Given the description of an element on the screen output the (x, y) to click on. 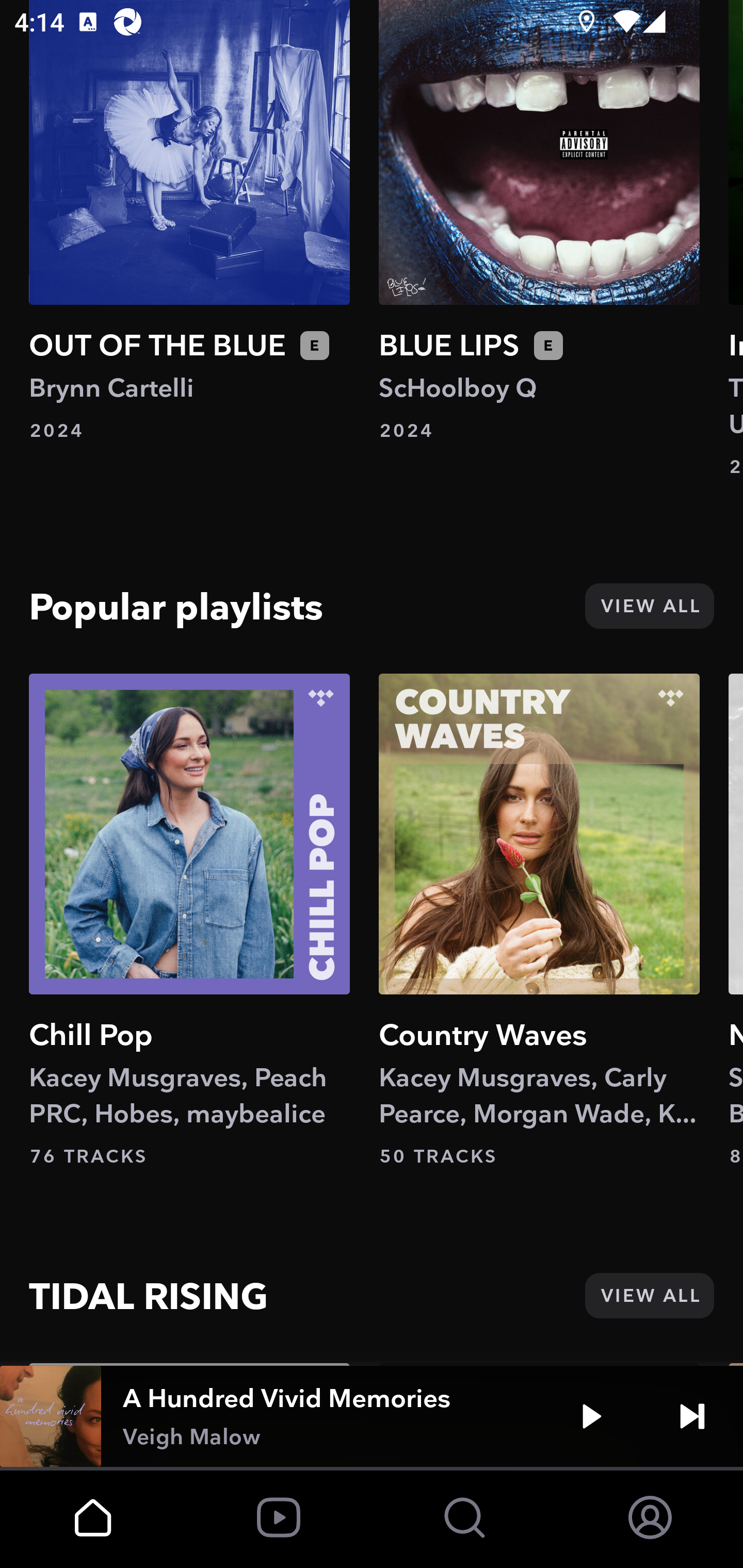
OUT OF THE BLUE Brynn Cartelli 2024 (188, 221)
BLUE LIPS ScHoolboy Q 2024 (538, 221)
VIEW ALL (649, 605)
VIEW ALL (649, 1295)
A Hundred Vivid Memories Veigh Malow Play (371, 1416)
Play (590, 1416)
